Given the description of an element on the screen output the (x, y) to click on. 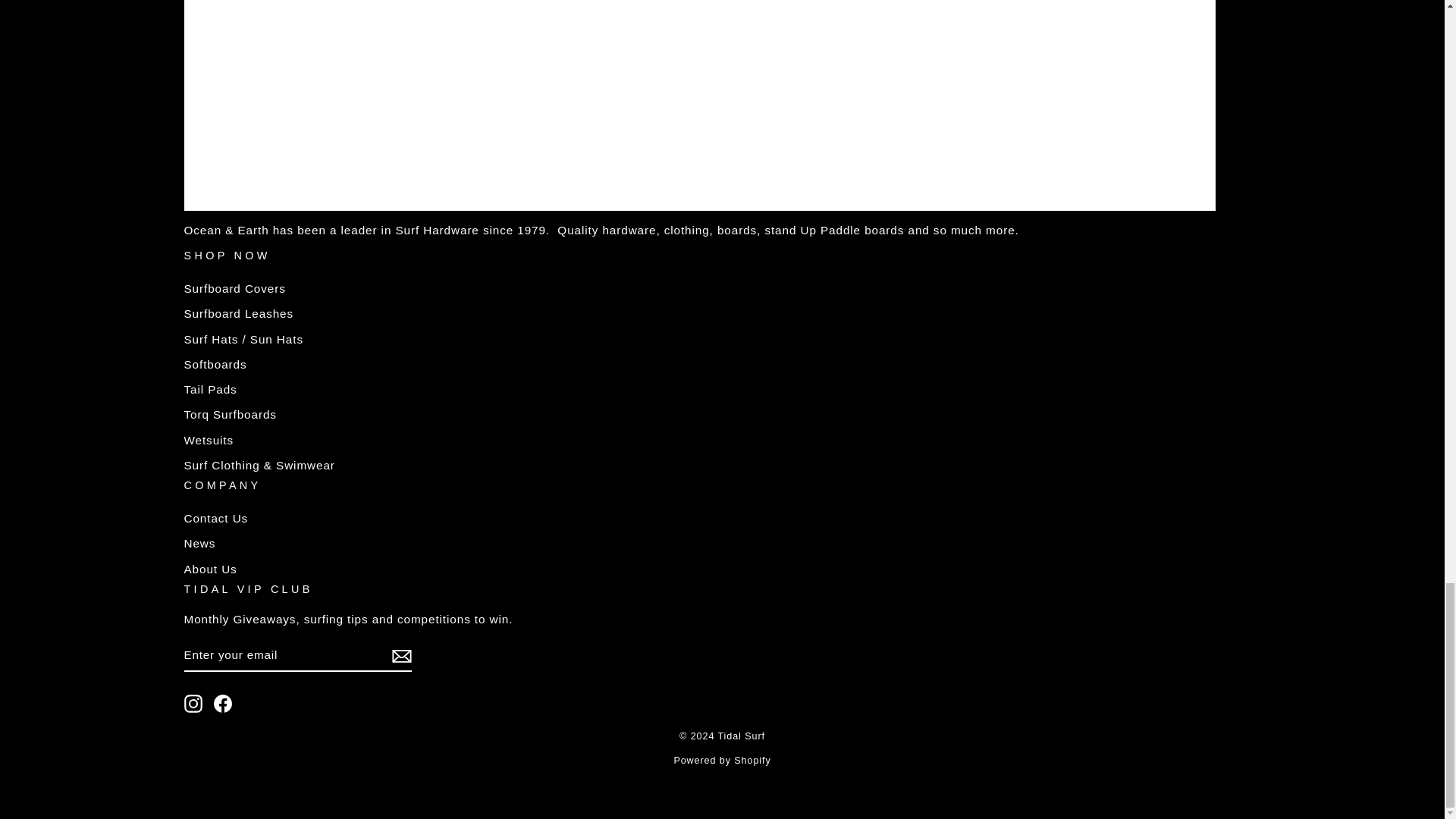
icon-email (400, 656)
Tidal Surf on Facebook (222, 703)
Tidal Surf on Instagram (192, 703)
instagram (192, 703)
